Given the description of an element on the screen output the (x, y) to click on. 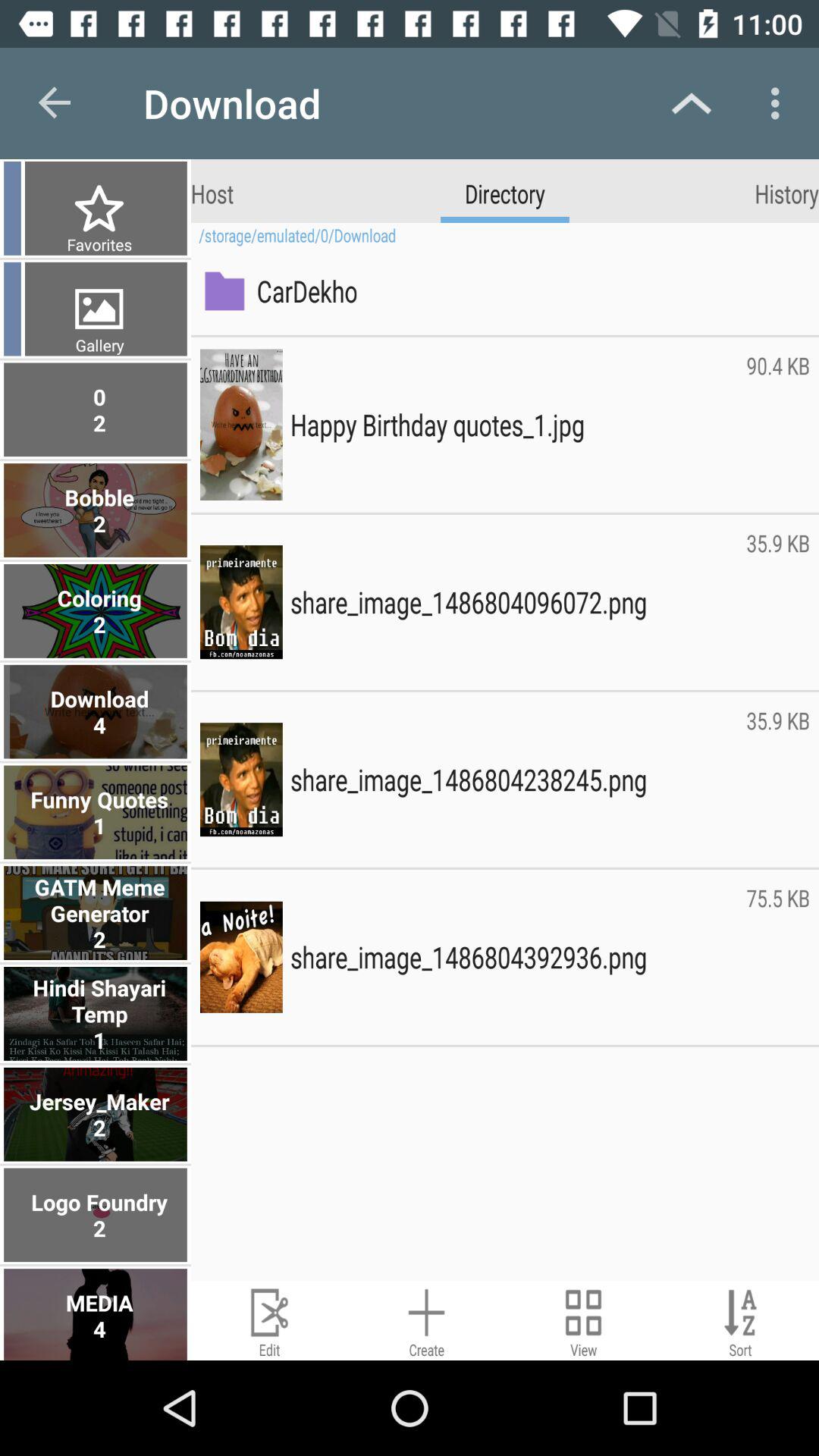
launch the happy birthday quotes_1 item (514, 424)
